Given the description of an element on the screen output the (x, y) to click on. 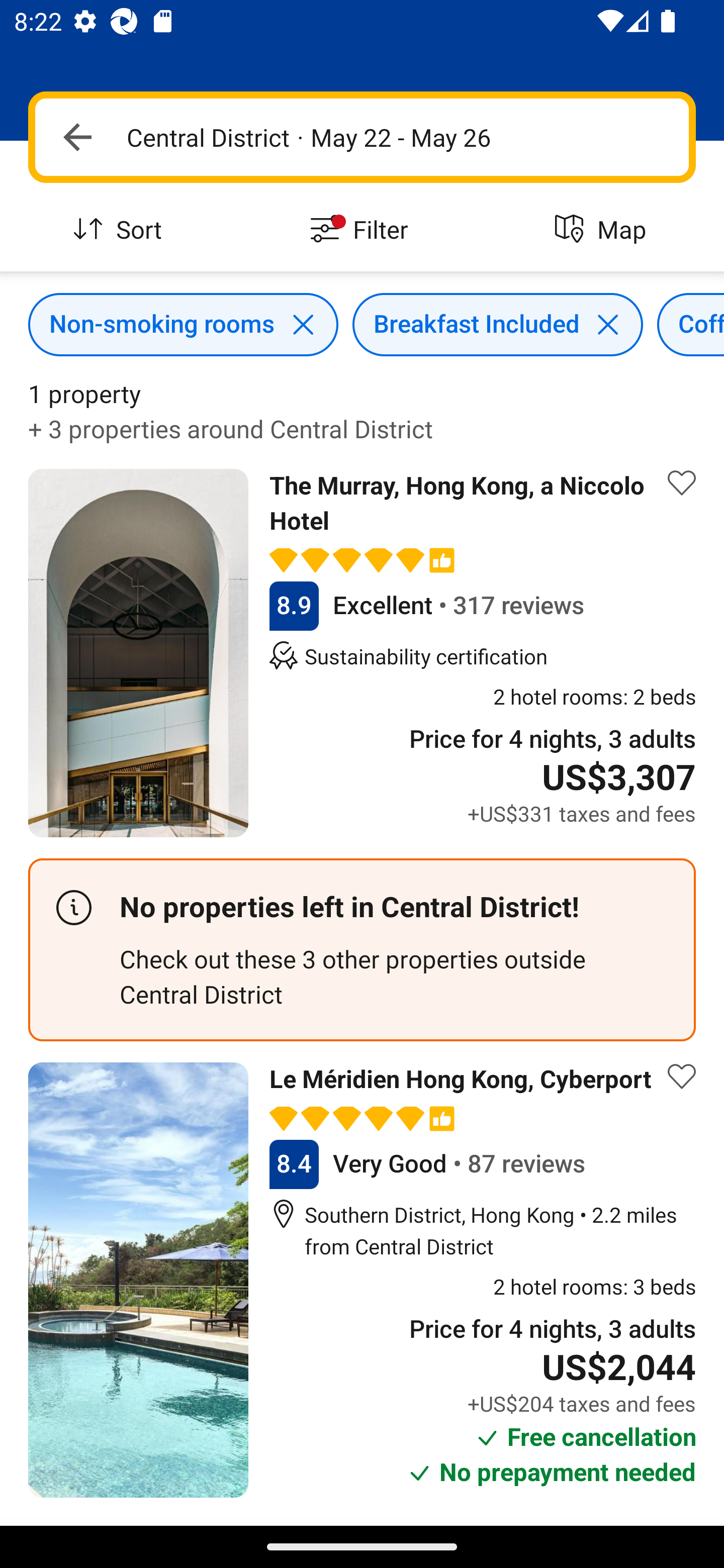
Navigate up Central District · May 22 - May 26 (362, 136)
Navigate up (77, 136)
Sort (120, 230)
Filter (361, 230)
Map (603, 230)
Save property to list (681, 482)
Save property to list (681, 1075)
